Given the description of an element on the screen output the (x, y) to click on. 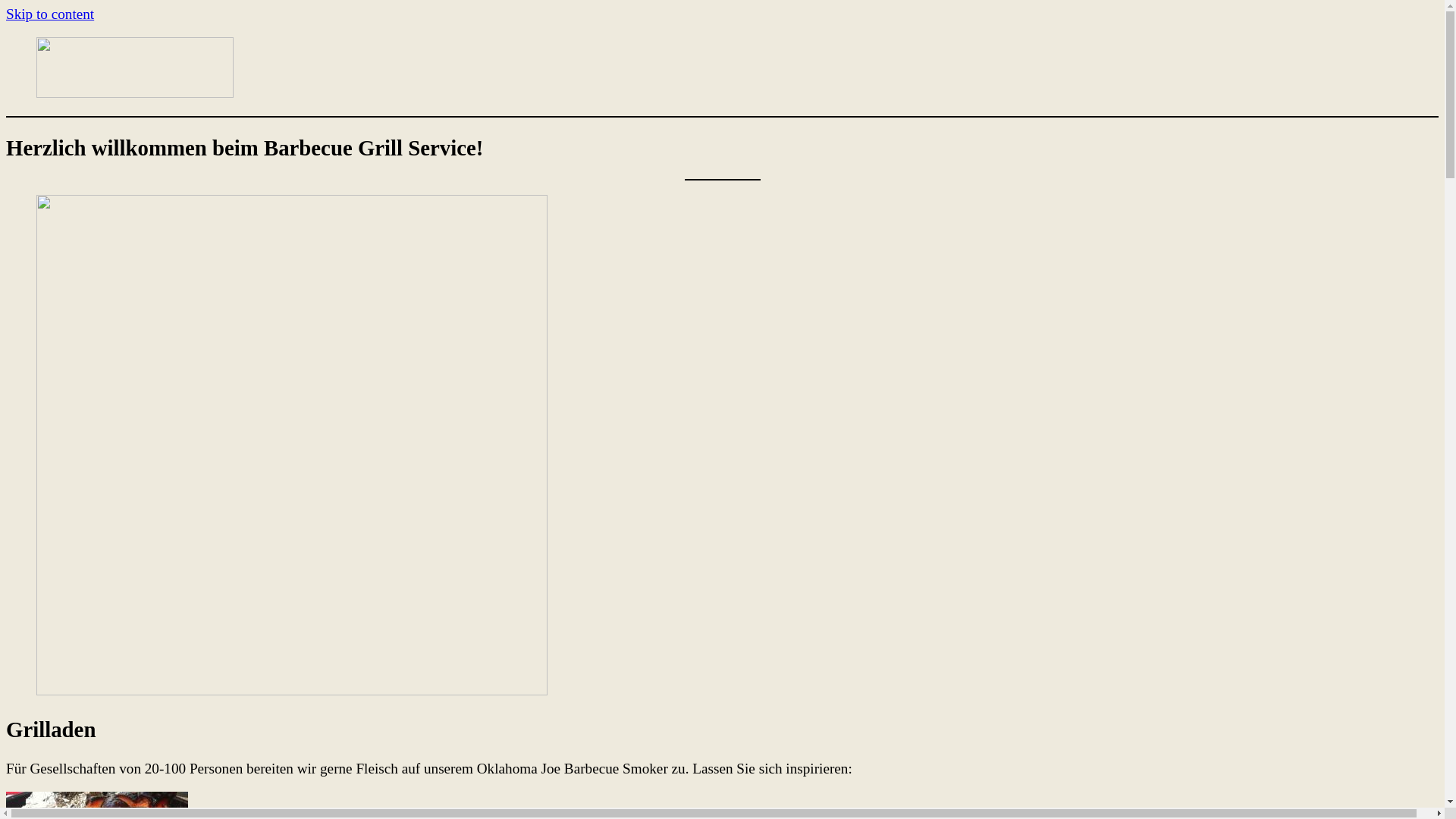
Skip to content Element type: text (50, 13)
